Given the description of an element on the screen output the (x, y) to click on. 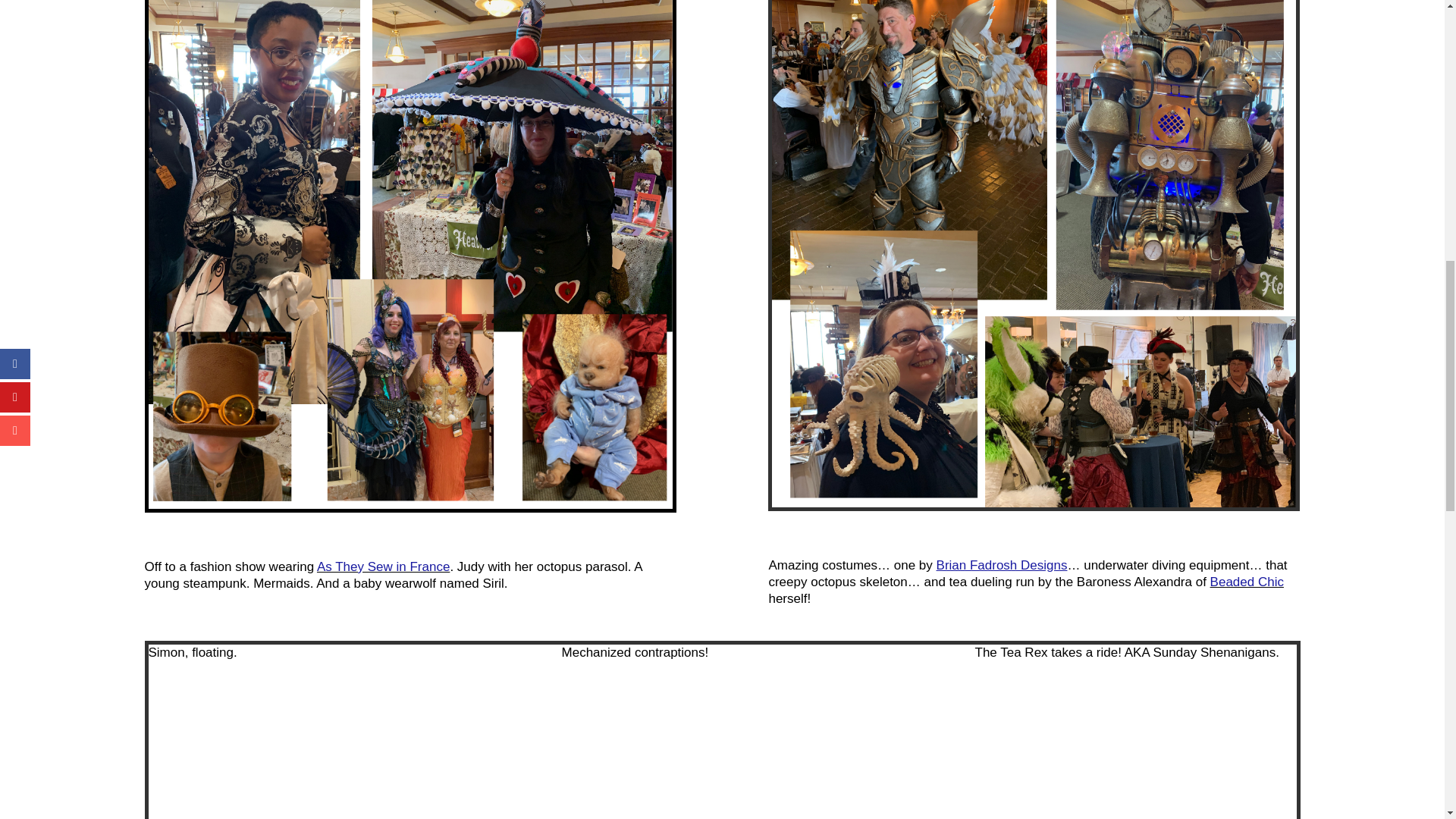
Contraptions at Key City Steampunk (722, 763)
As They Sew in France (383, 566)
Brian Fadrosh Designs (1001, 564)
Tea Rex (1136, 763)
Beaded Chic (1246, 581)
Simon's Adventure (309, 763)
